Given the description of an element on the screen output the (x, y) to click on. 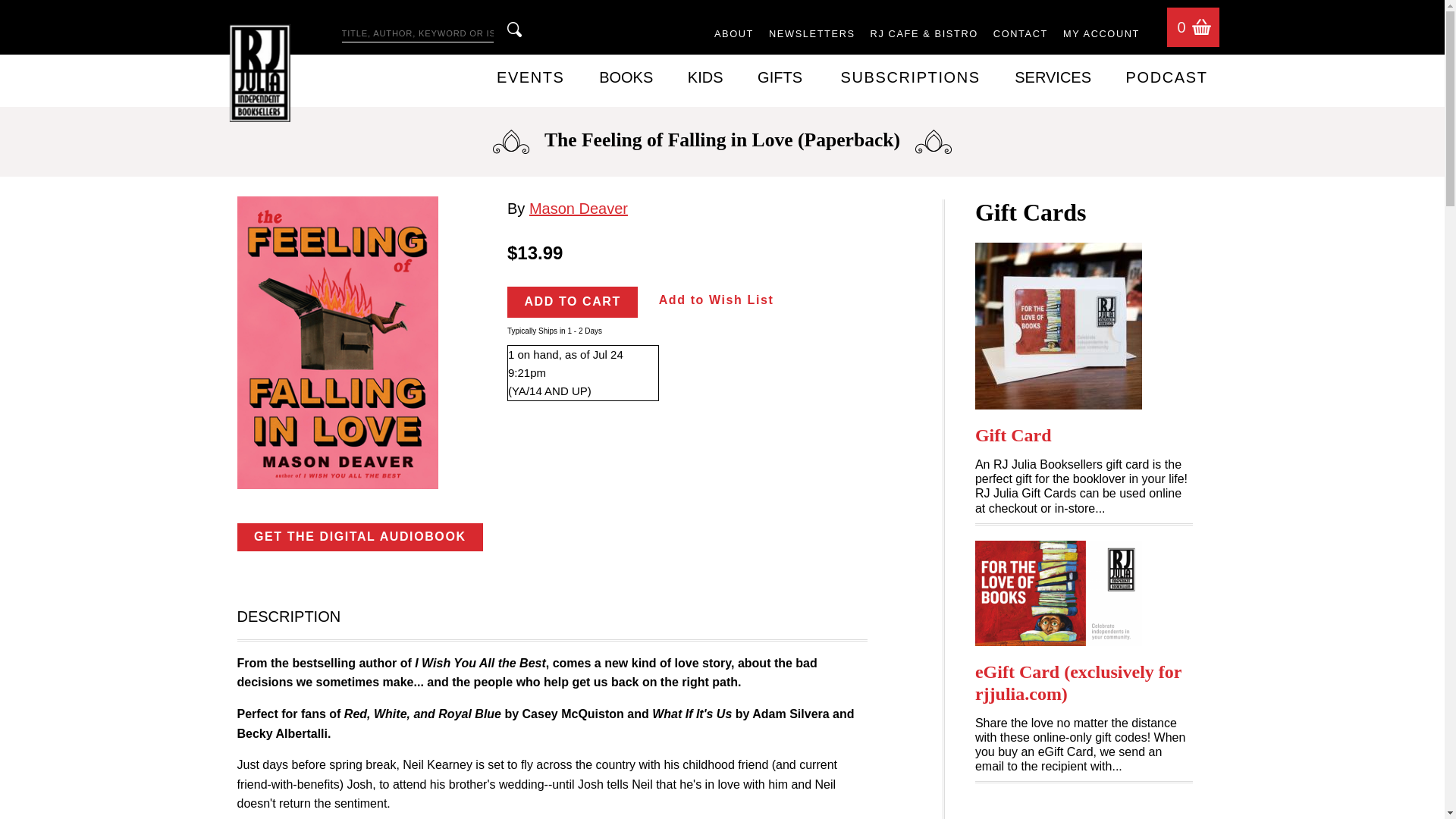
NEWSLETTERS (812, 35)
EVENTS (530, 76)
Add to Cart (571, 301)
MY ACCOUNT (1101, 35)
ABOUT (734, 35)
Enter the terms you wish to search for. (416, 34)
Get the Digital Audiobook (358, 537)
SUBSCRIPTIONS (910, 76)
Search (514, 29)
CONTACT (1020, 35)
Search (514, 29)
